Given the description of an element on the screen output the (x, y) to click on. 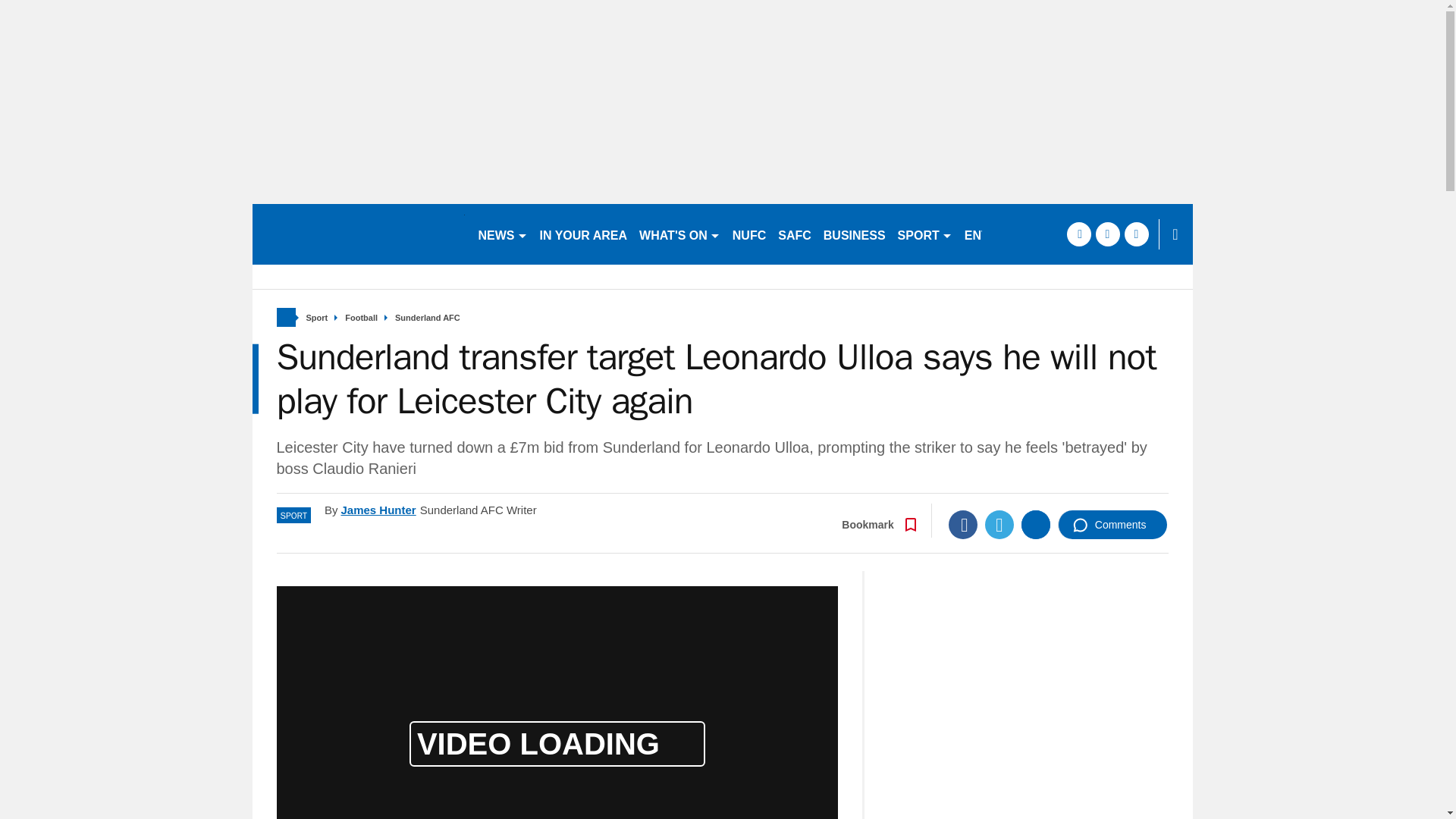
BUSINESS (853, 233)
Twitter (999, 524)
twitter (1106, 233)
facebook (1077, 233)
Comments (1112, 524)
WHAT'S ON (679, 233)
instagram (1136, 233)
NEWS (501, 233)
SPORT (924, 233)
IN YOUR AREA (583, 233)
